Given the description of an element on the screen output the (x, y) to click on. 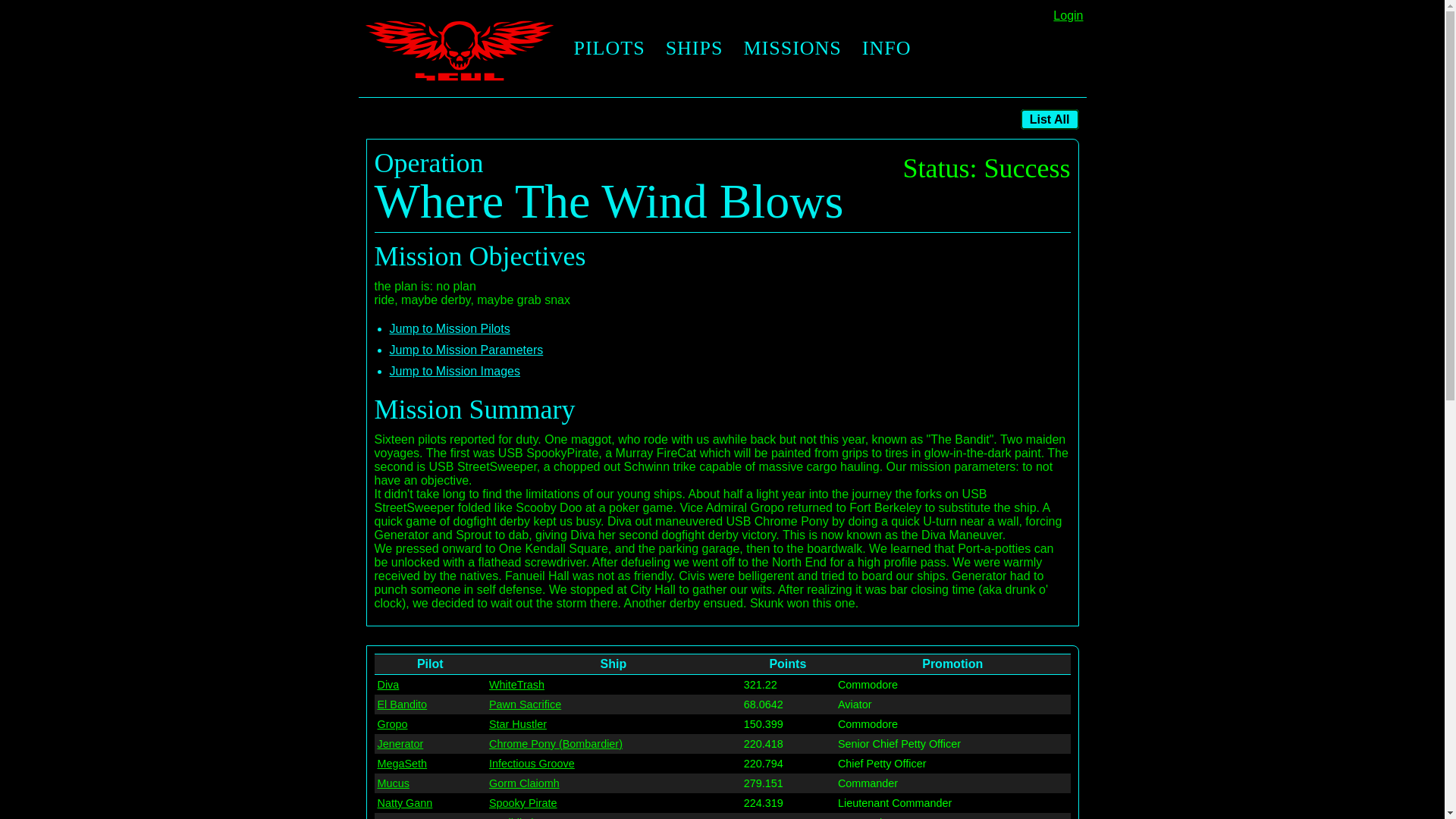
Pawn Sacrifice (524, 704)
Jenerator (400, 743)
MISSIONS (791, 48)
INFO (886, 48)
El Bandito (402, 704)
SHIPS (694, 48)
PILOTS (607, 48)
Jump to Mission Images (455, 370)
WhiteTrash (516, 684)
List All (1049, 118)
